Given the description of an element on the screen output the (x, y) to click on. 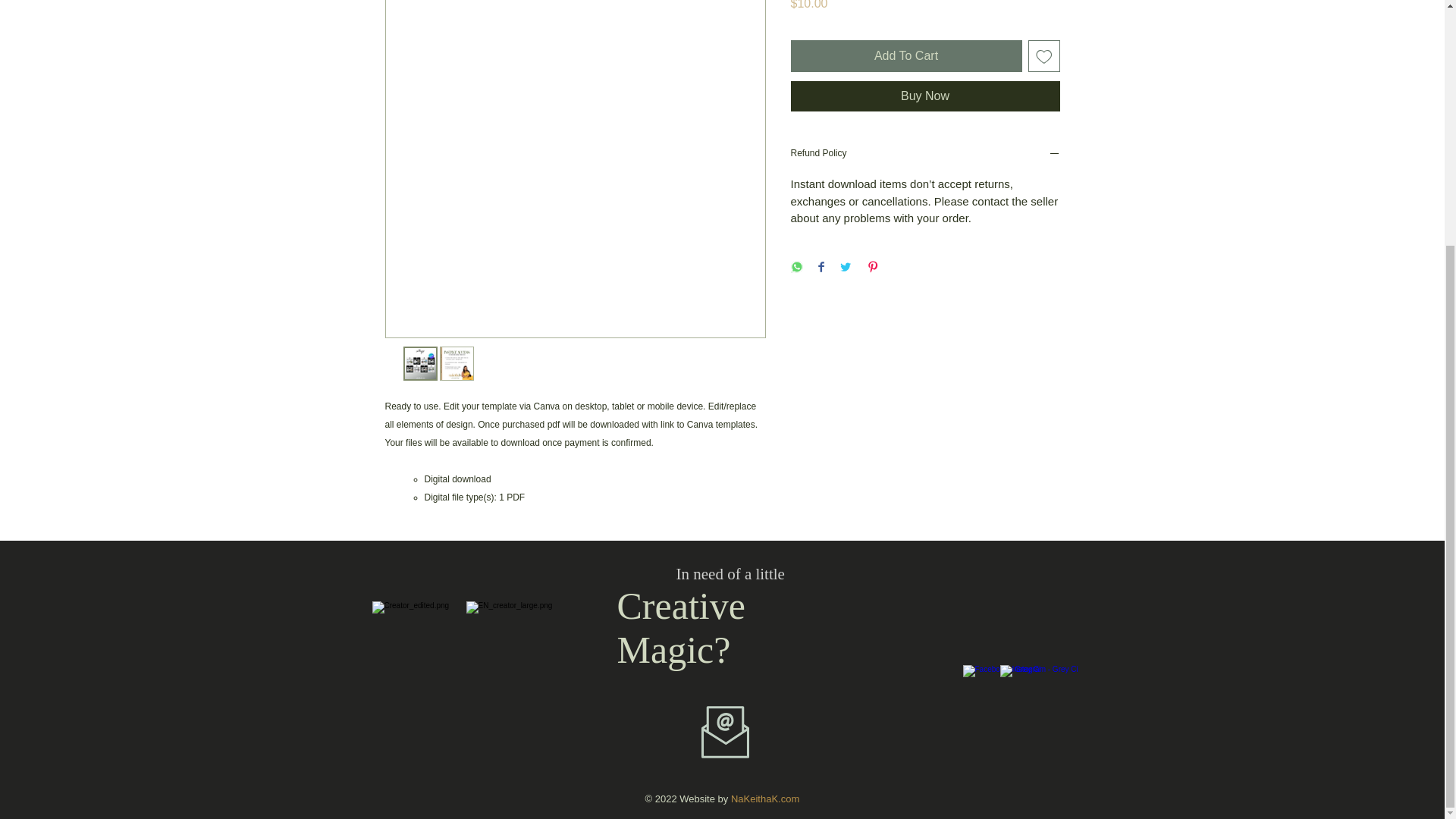
Add To Cart (906, 56)
Buy Now (924, 96)
Refund Policy (924, 155)
